Given the description of an element on the screen output the (x, y) to click on. 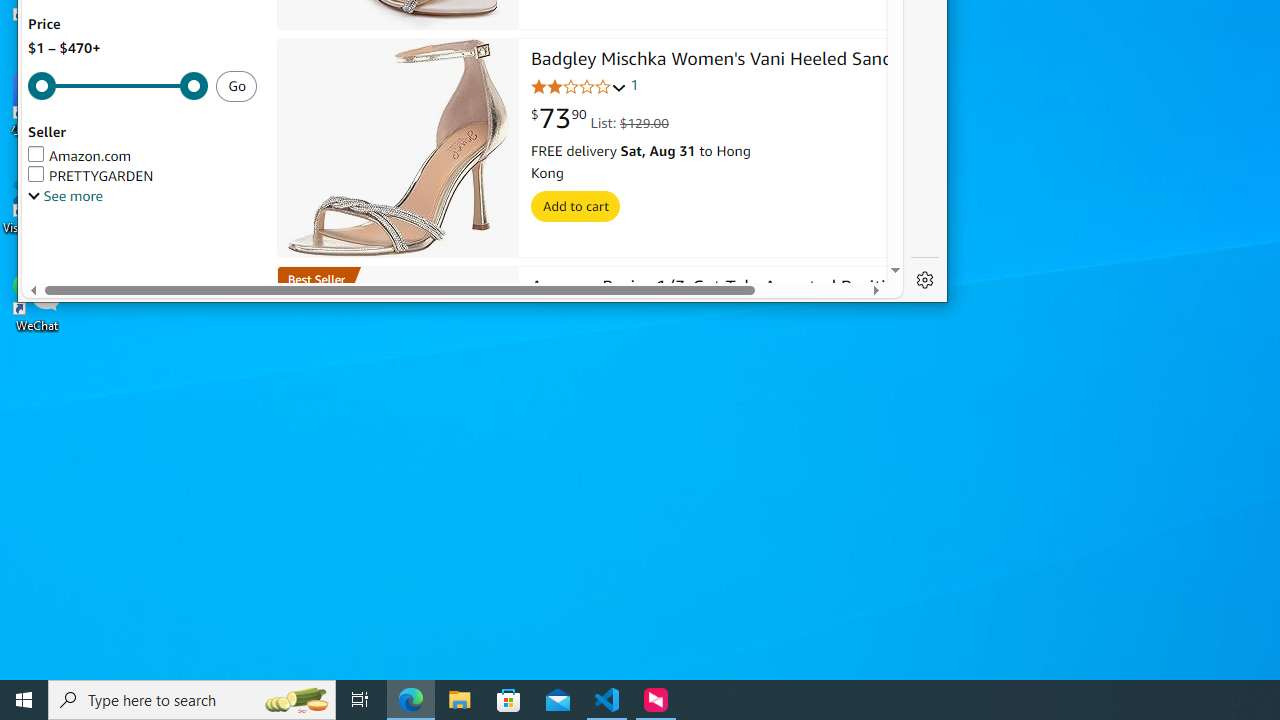
See more, Seller (65, 196)
Minimum (118, 86)
Go - Submit price range (236, 85)
PRETTYGARDEN (90, 175)
1 (633, 85)
PRETTYGARDEN (142, 176)
Add to cart (575, 206)
Search highlights icon opens search home window (295, 699)
Skip to main search results (106, 273)
Amazon.com (142, 156)
File Explorer (460, 699)
Go back to filtering menu (103, 273)
Badgley Mischka Women's Vani Heeled Sandal (398, 147)
